Given the description of an element on the screen output the (x, y) to click on. 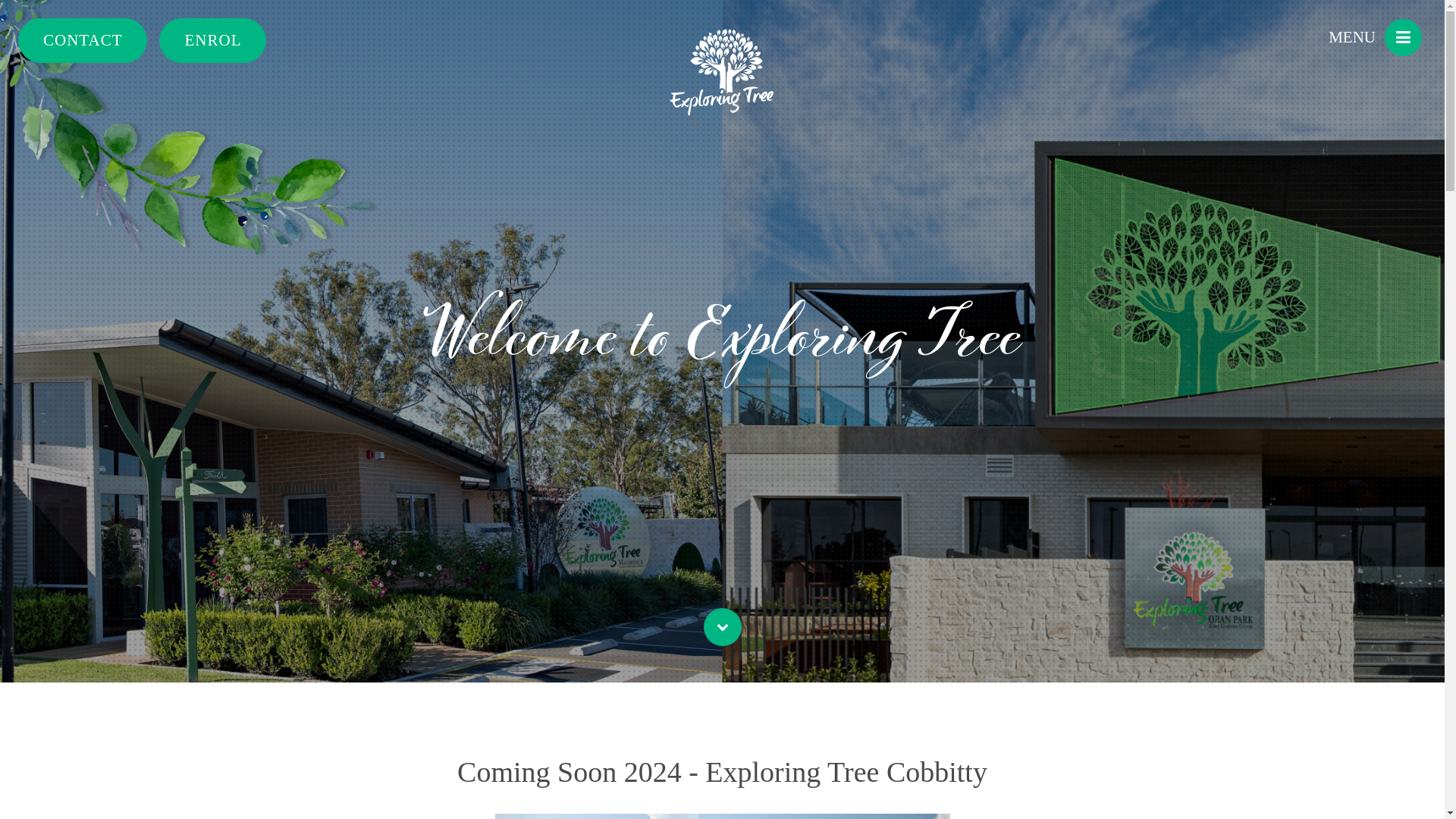
Scroll down Element type: text (722, 627)
MENU Element type: text (1375, 37)
CONTACT Element type: text (82, 40)
ENROL Element type: text (212, 40)
